Given the description of an element on the screen output the (x, y) to click on. 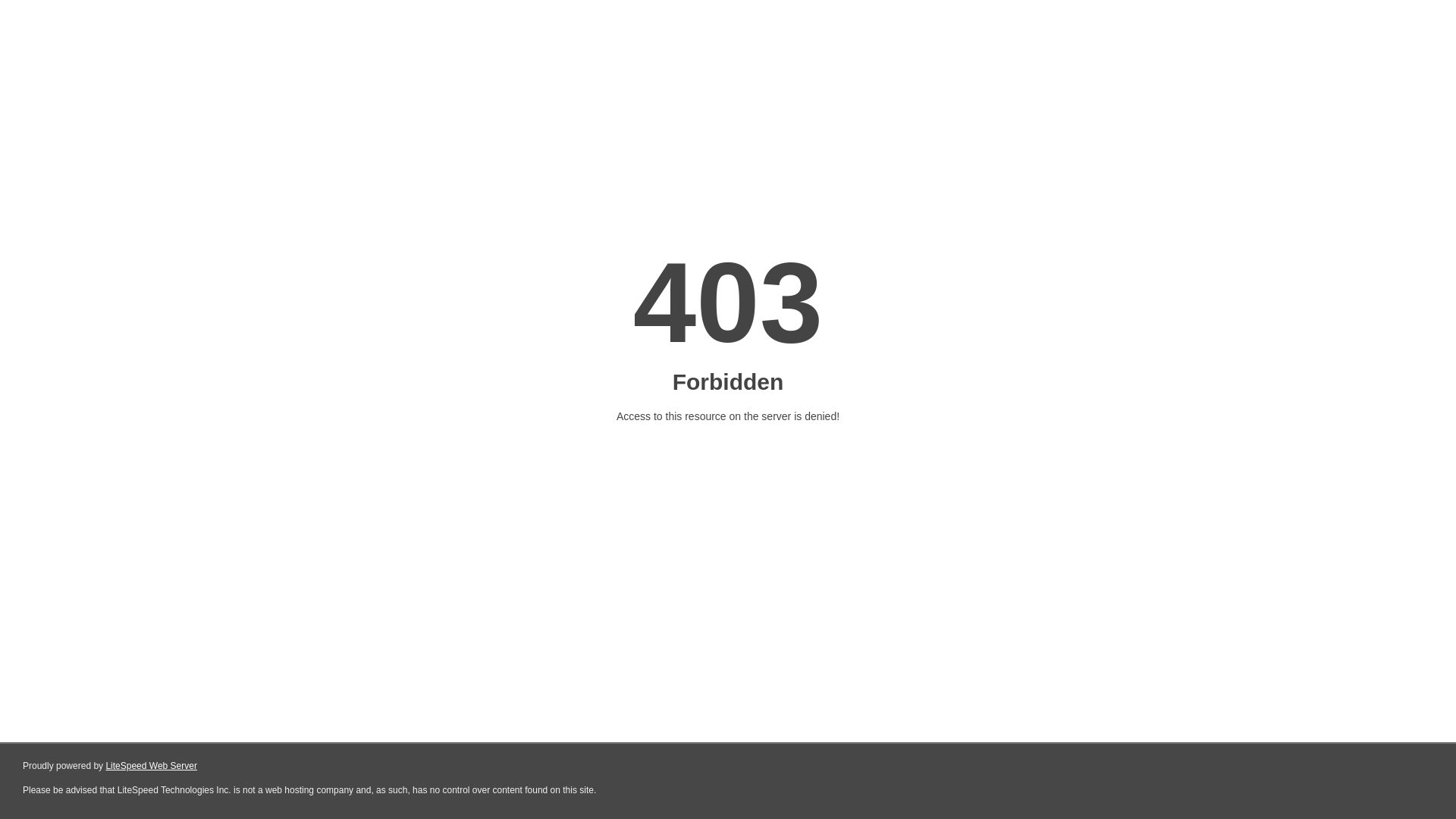
LiteSpeed Web Server Element type: text (151, 765)
